Given the description of an element on the screen output the (x, y) to click on. 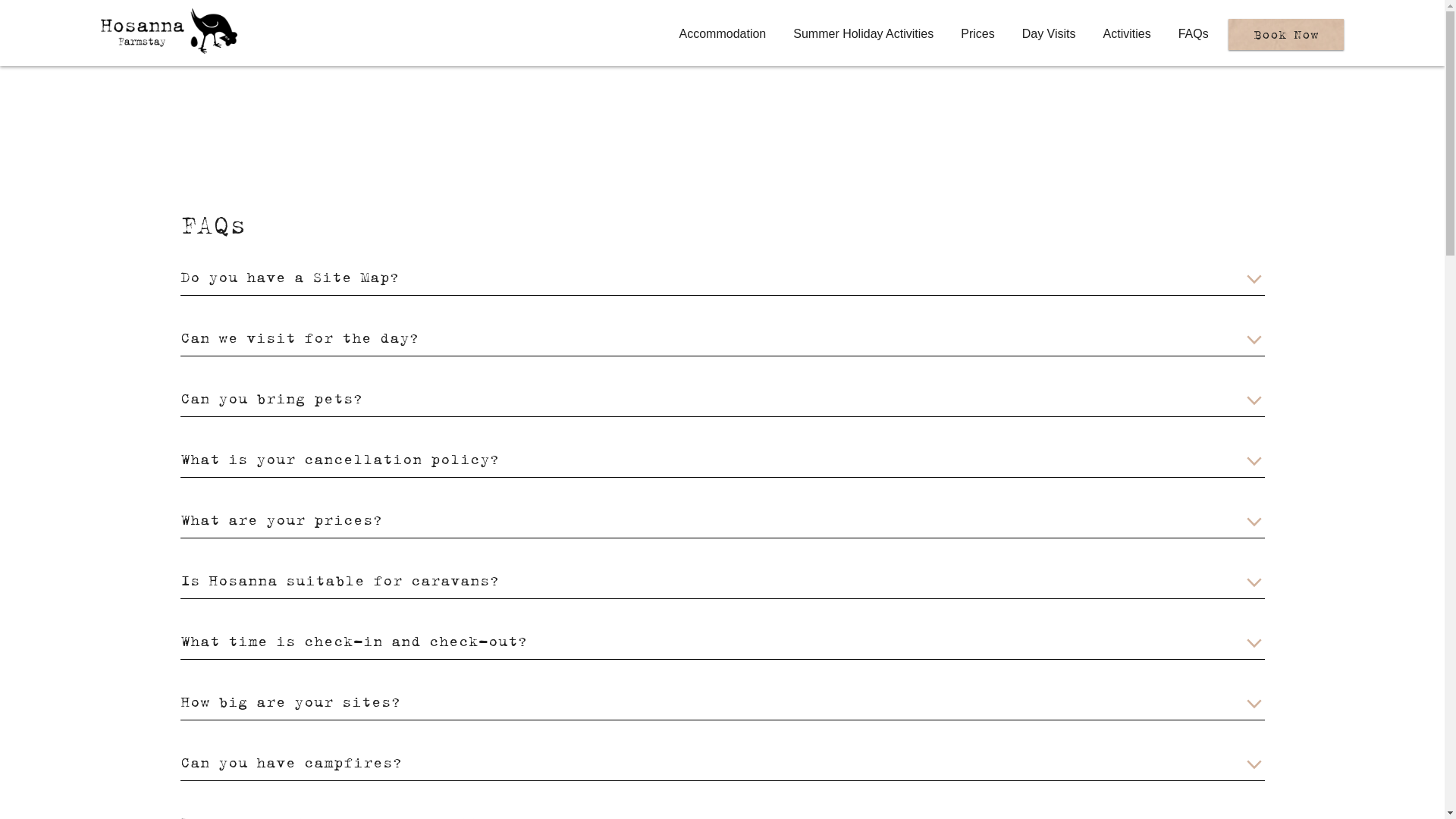
Activities Element type: text (1127, 33)
FAQs Element type: text (1193, 33)
Summer Holiday Activities Element type: text (863, 33)
Book Now Element type: text (1285, 33)
Prices Element type: text (977, 33)
Day Visits Element type: text (1049, 33)
Accommodation Element type: text (722, 33)
